Given the description of an element on the screen output the (x, y) to click on. 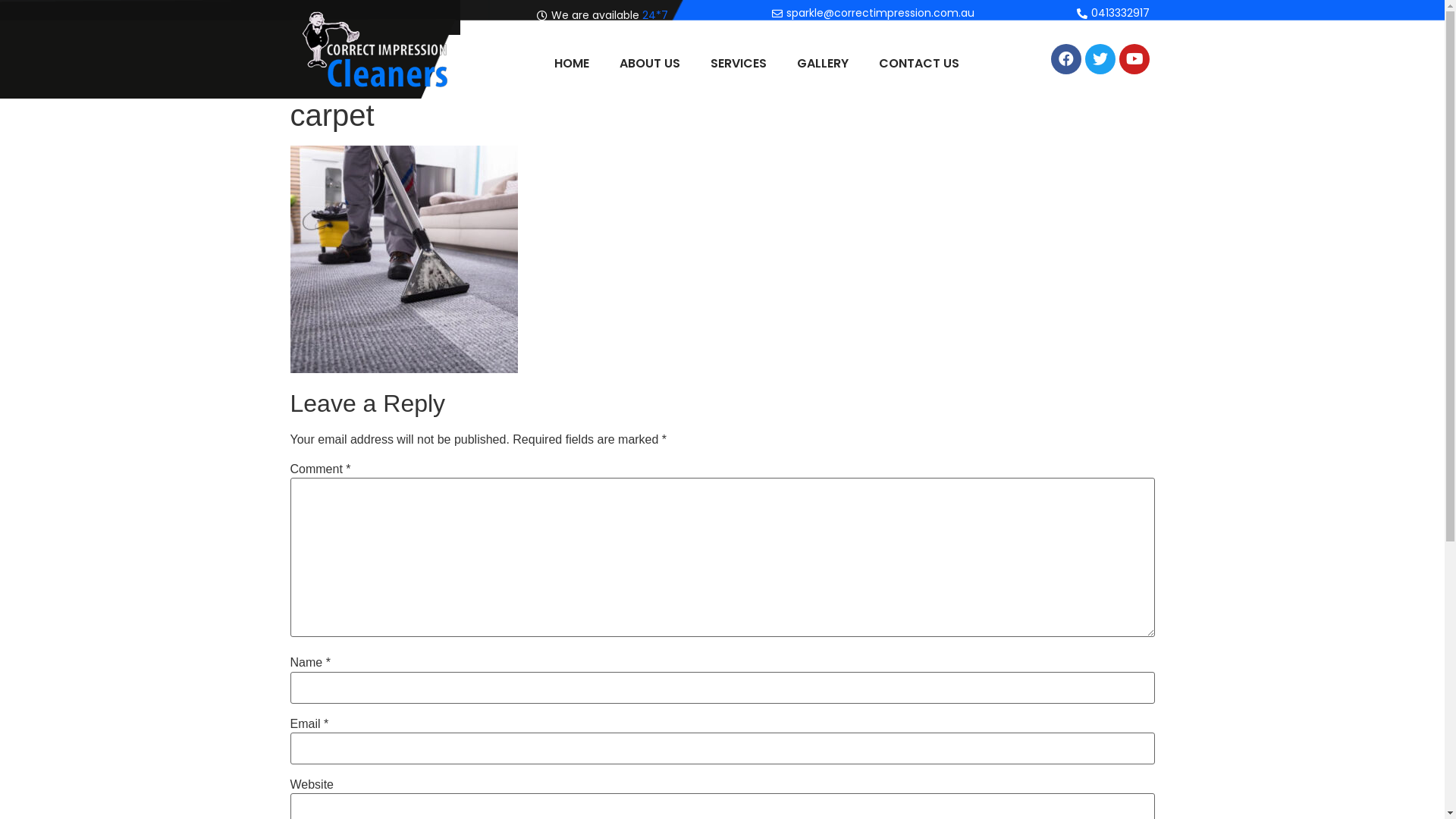
CONTACT US Element type: text (918, 63)
GALLERY Element type: text (822, 63)
SERVICES Element type: text (738, 63)
sparkle@correctimpression.com.au Element type: text (871, 13)
ABOUT US Element type: text (649, 63)
0413332917 Element type: text (1112, 13)
HOME Element type: text (571, 63)
